Given the description of an element on the screen output the (x, y) to click on. 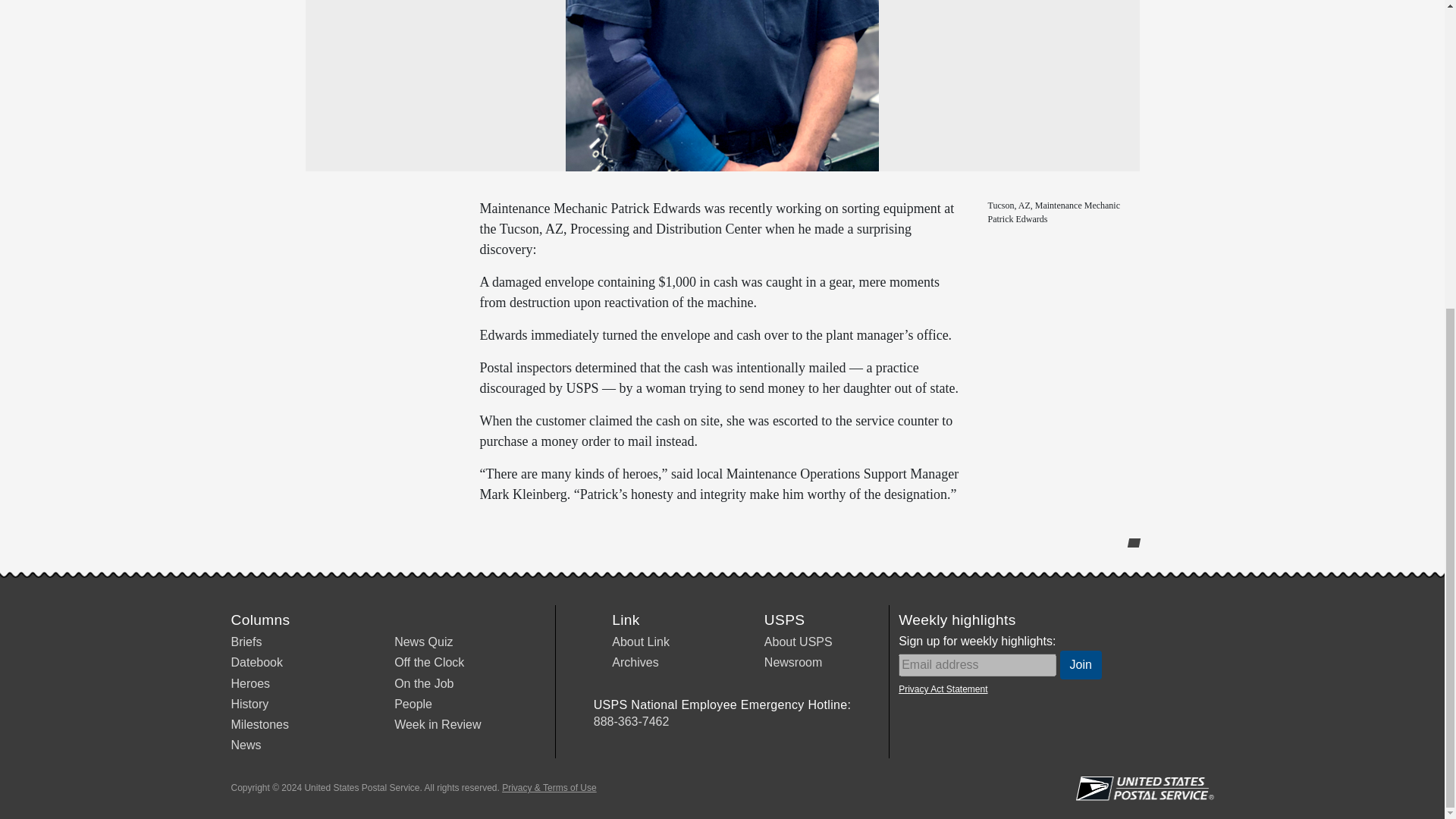
Archives (634, 662)
Briefs (246, 641)
Milestones (259, 724)
People (413, 703)
Join (1080, 664)
Privacy Act Statement (942, 688)
Heroes (249, 683)
Off the Clock (429, 662)
Join (1080, 664)
News Quiz (423, 641)
